Given the description of an element on the screen output the (x, y) to click on. 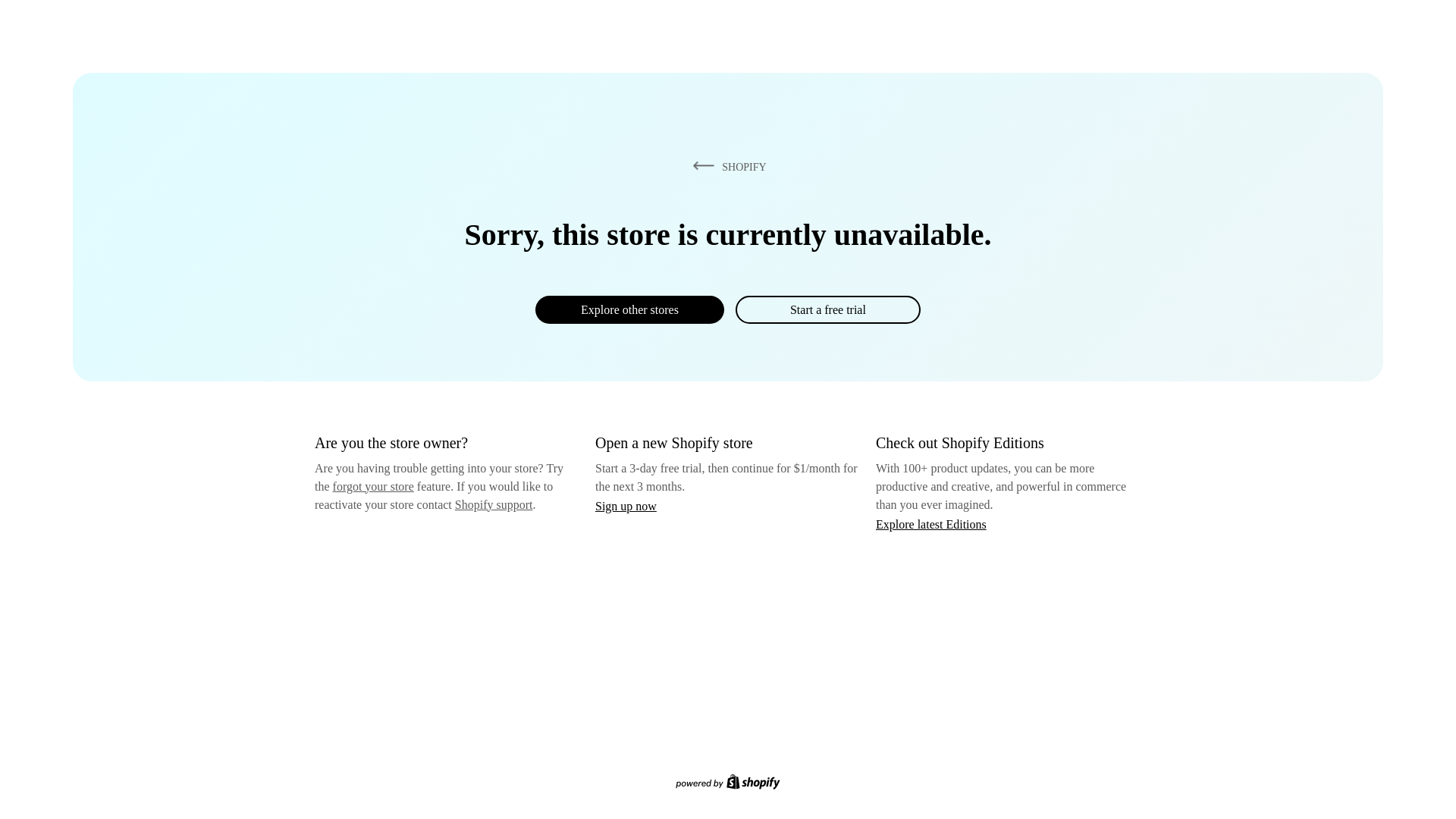
Start a free trial (827, 309)
Explore latest Editions (931, 523)
forgot your store (373, 486)
Shopify support (493, 504)
Sign up now (625, 505)
Explore other stores (629, 309)
SHOPIFY (726, 166)
